Given the description of an element on the screen output the (x, y) to click on. 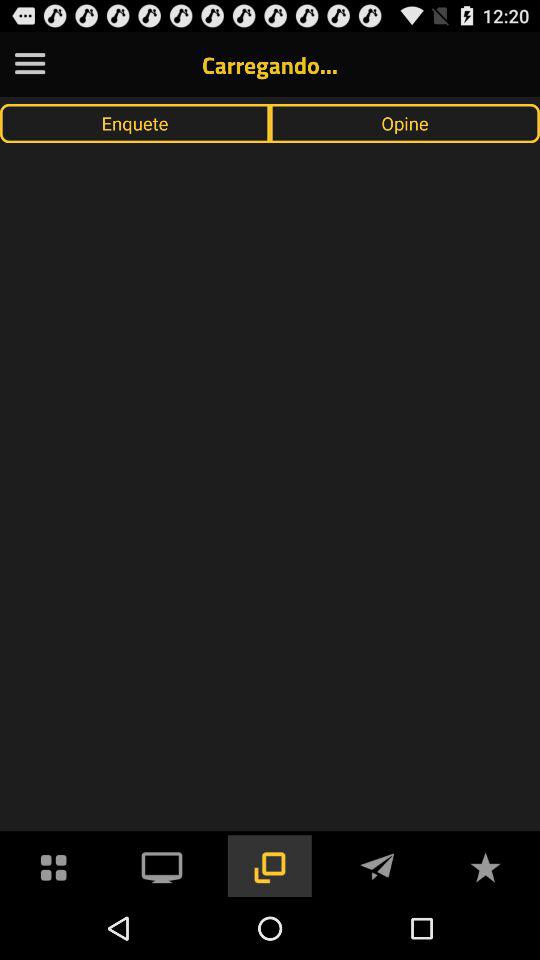
click the button to the right of enquete icon (405, 123)
